Given the description of an element on the screen output the (x, y) to click on. 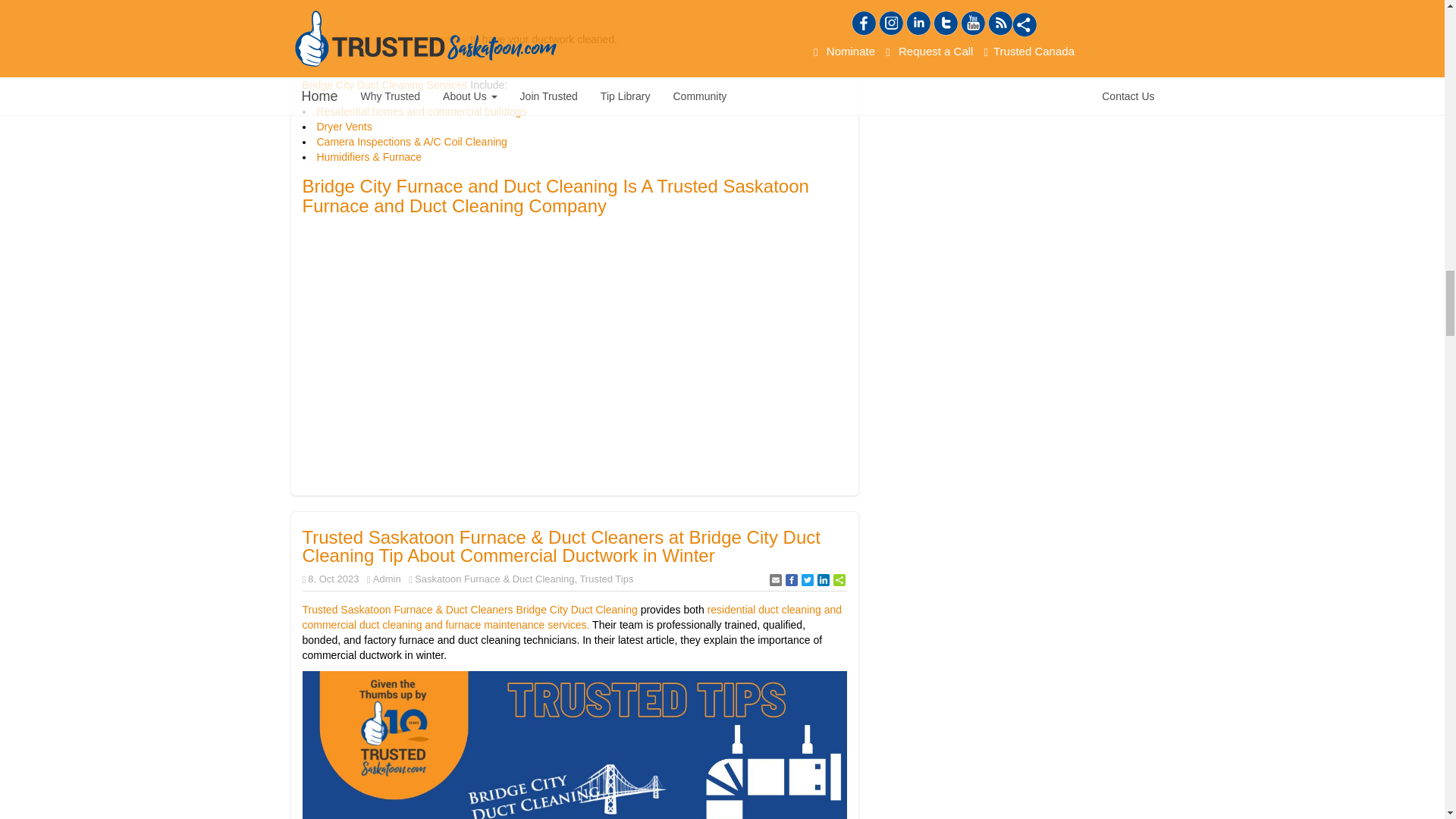
YouTube video player (513, 359)
